Given the description of an element on the screen output the (x, y) to click on. 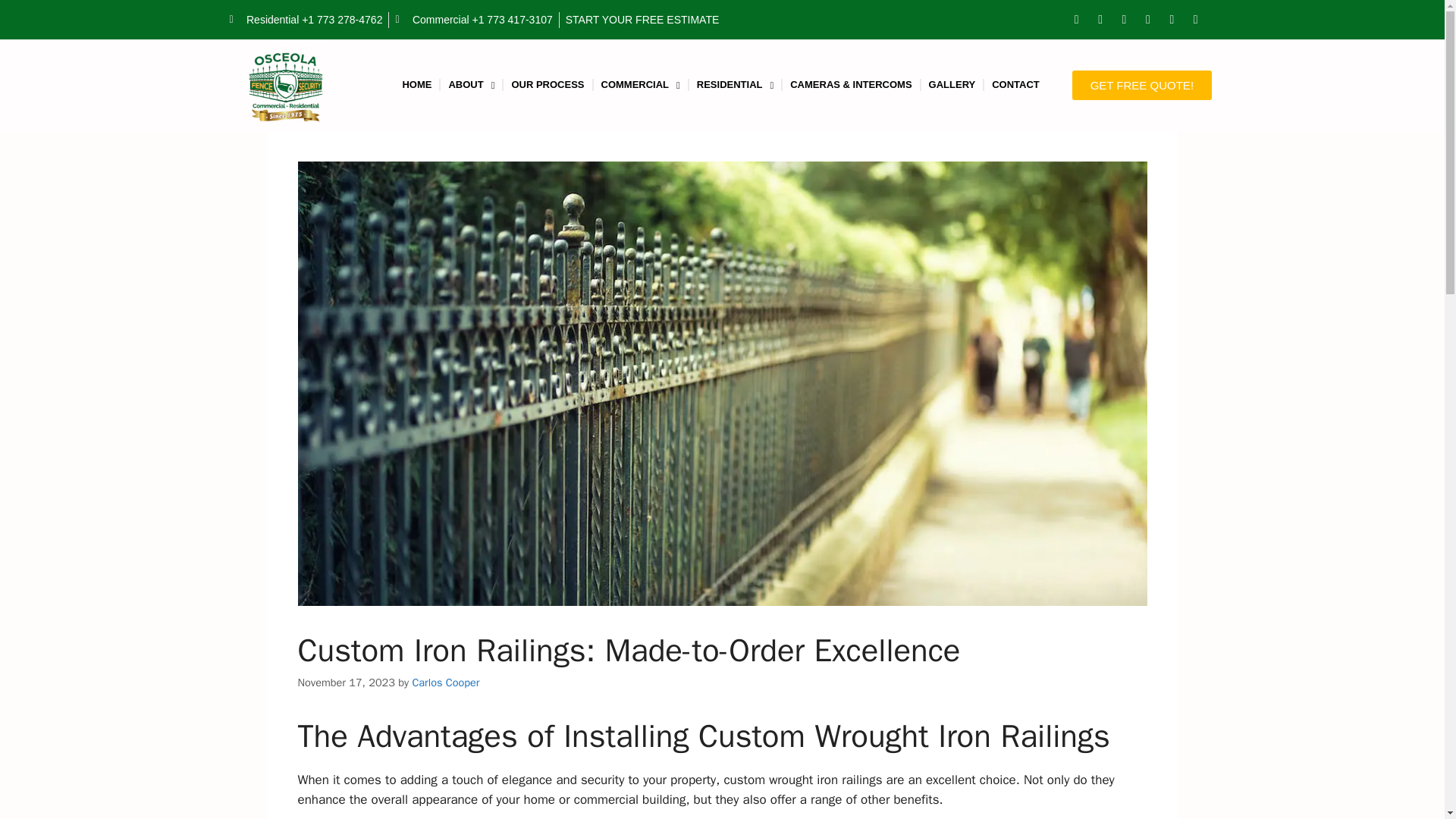
OUR PROCESS (547, 84)
HOME (417, 84)
COMMERCIAL (640, 84)
START YOUR FREE ESTIMATE (642, 19)
RESIDENTIAL (734, 84)
ABOUT (471, 84)
View all posts by Carlos Cooper (445, 682)
